Given the description of an element on the screen output the (x, y) to click on. 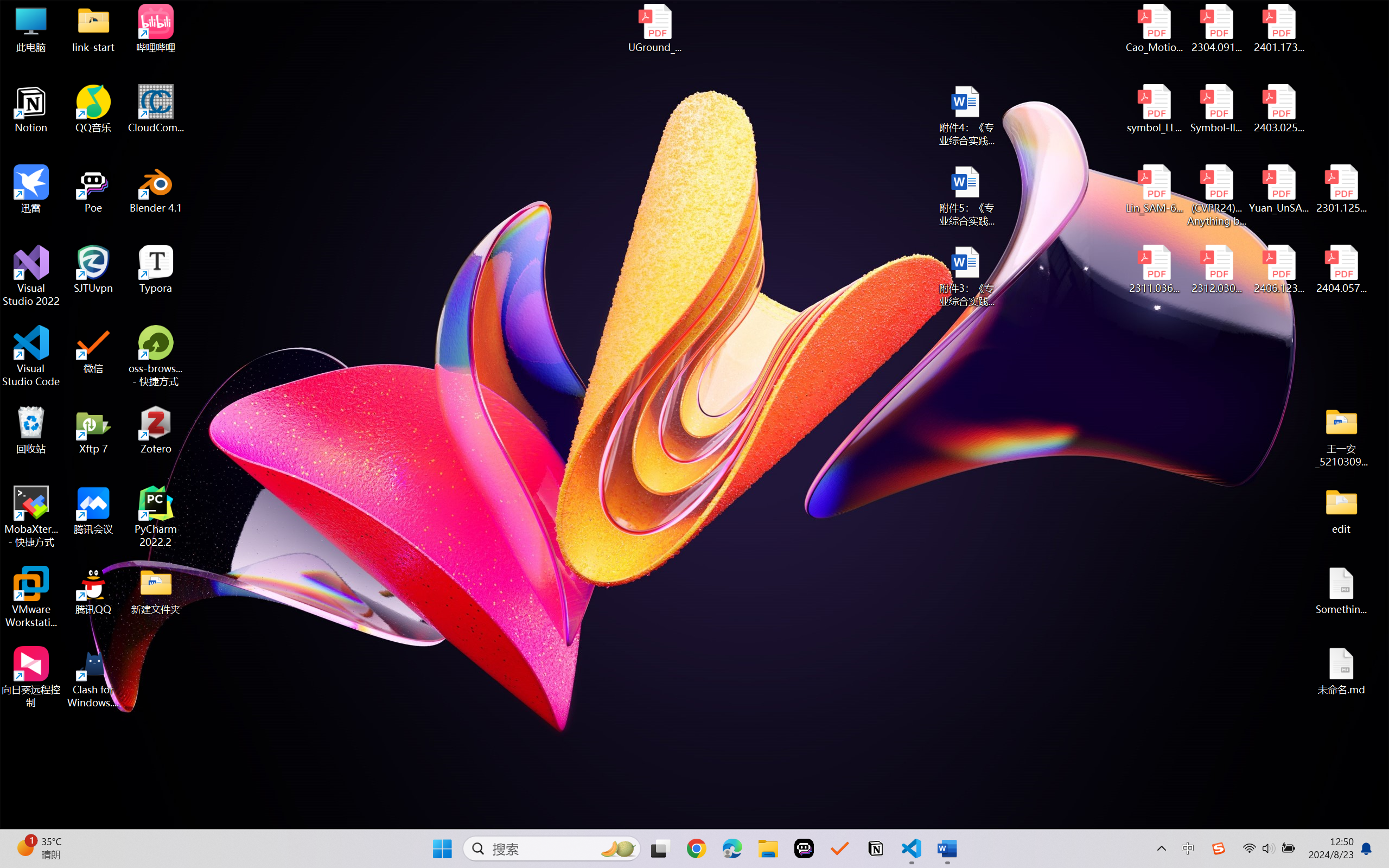
(CVPR24)Matching Anything by Segmenting Anything.pdf (1216, 195)
2406.12373v2.pdf (1278, 269)
2312.03032v2.pdf (1216, 269)
Symbol-llm-v2.pdf (1216, 109)
edit (1340, 510)
